Given the description of an element on the screen output the (x, y) to click on. 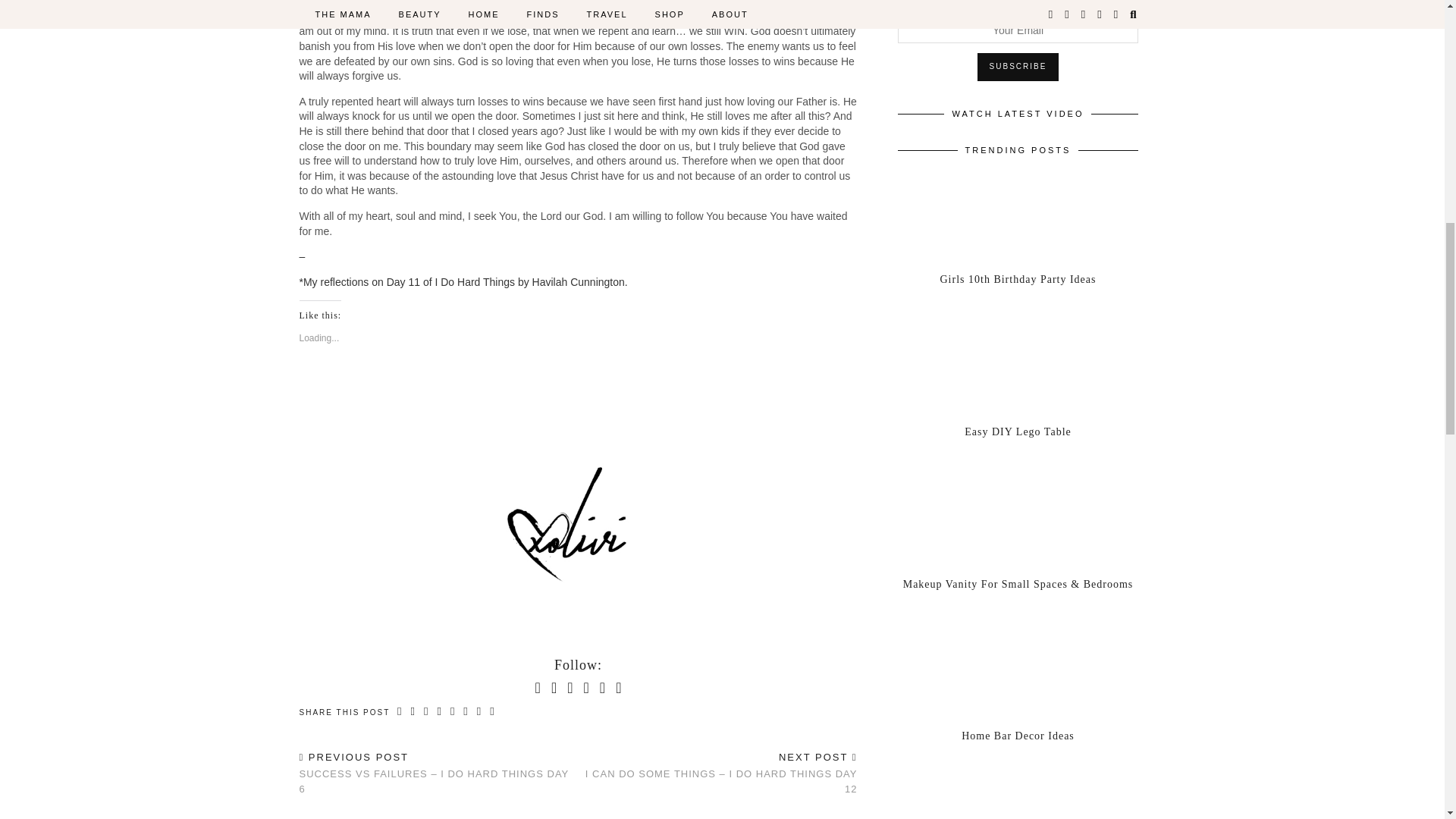
SUBSCRIBE (1017, 66)
